Given the description of an element on the screen output the (x, y) to click on. 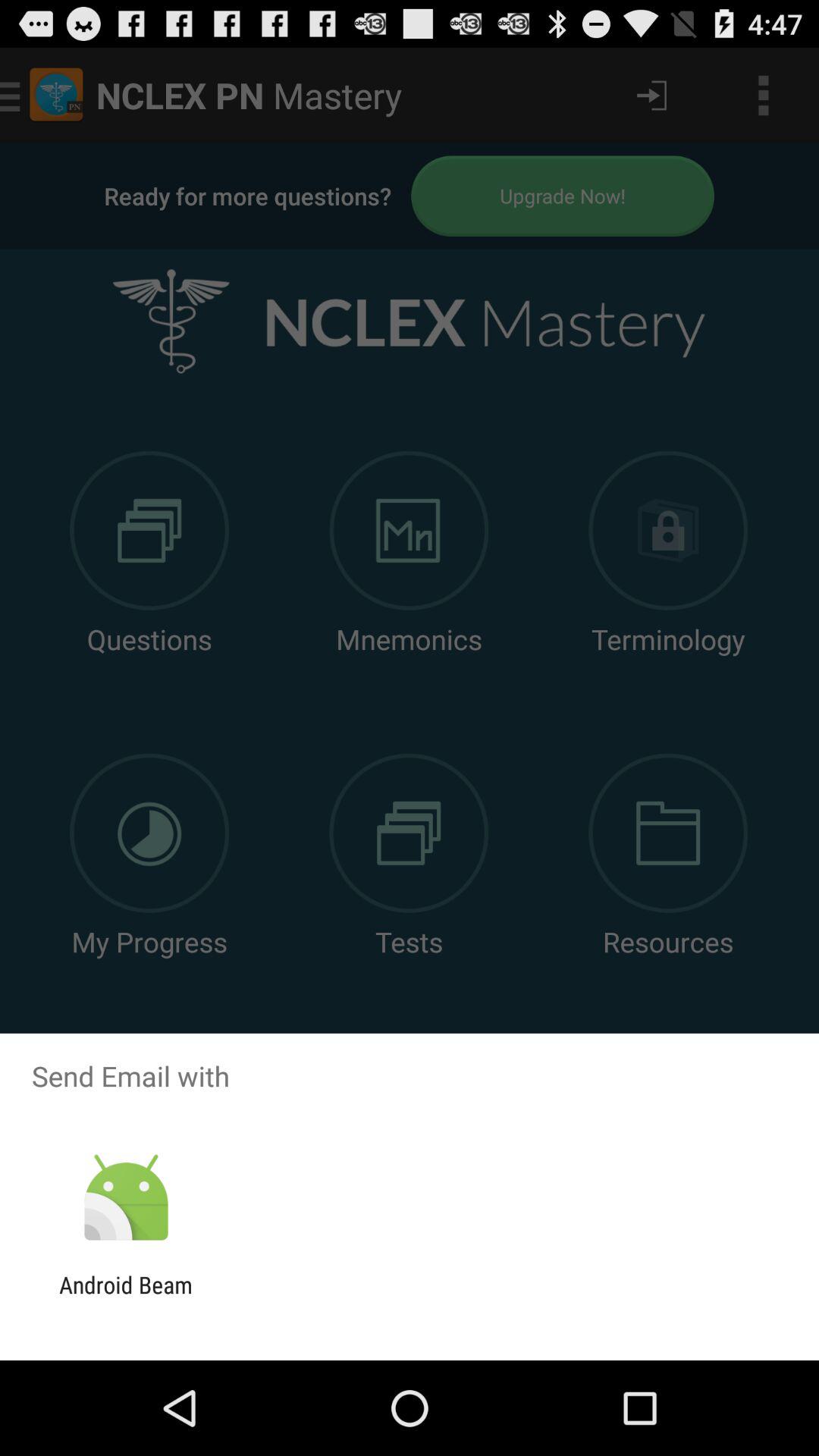
scroll until the android beam (125, 1298)
